Given the description of an element on the screen output the (x, y) to click on. 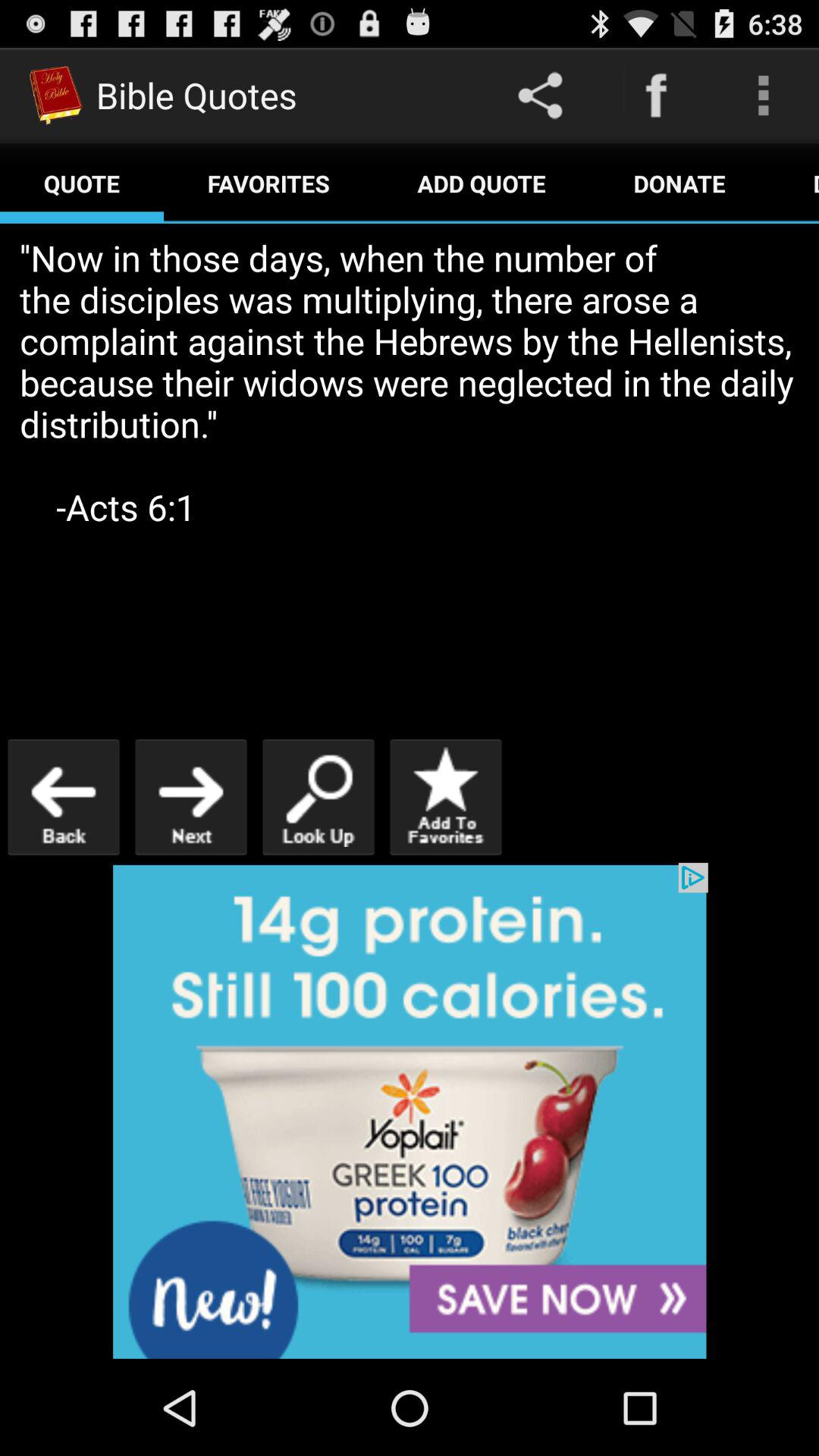
go next (190, 796)
